Given the description of an element on the screen output the (x, y) to click on. 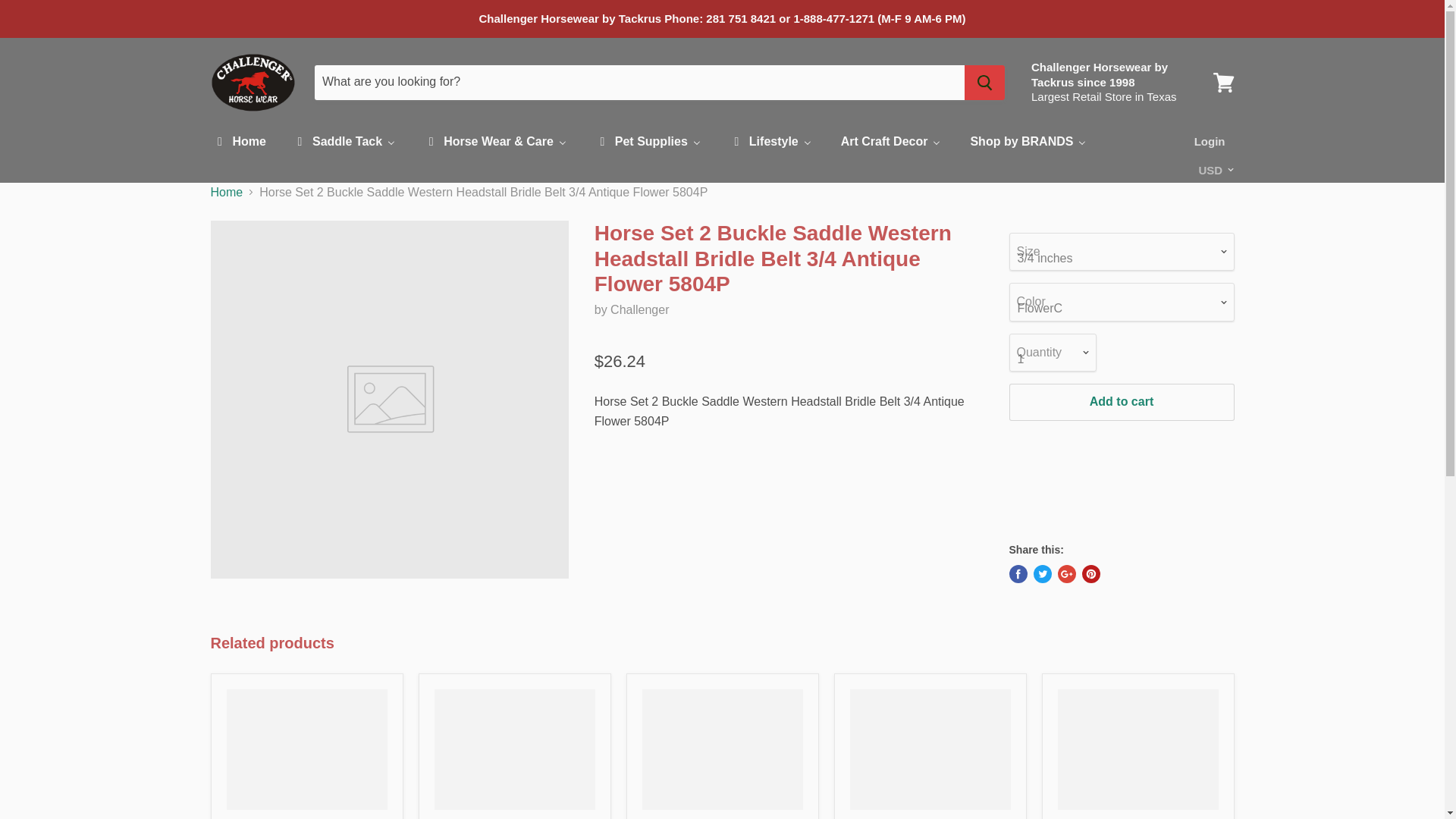
Saddle Tack (344, 142)
View cart (1223, 82)
Home (238, 142)
